Given the description of an element on the screen output the (x, y) to click on. 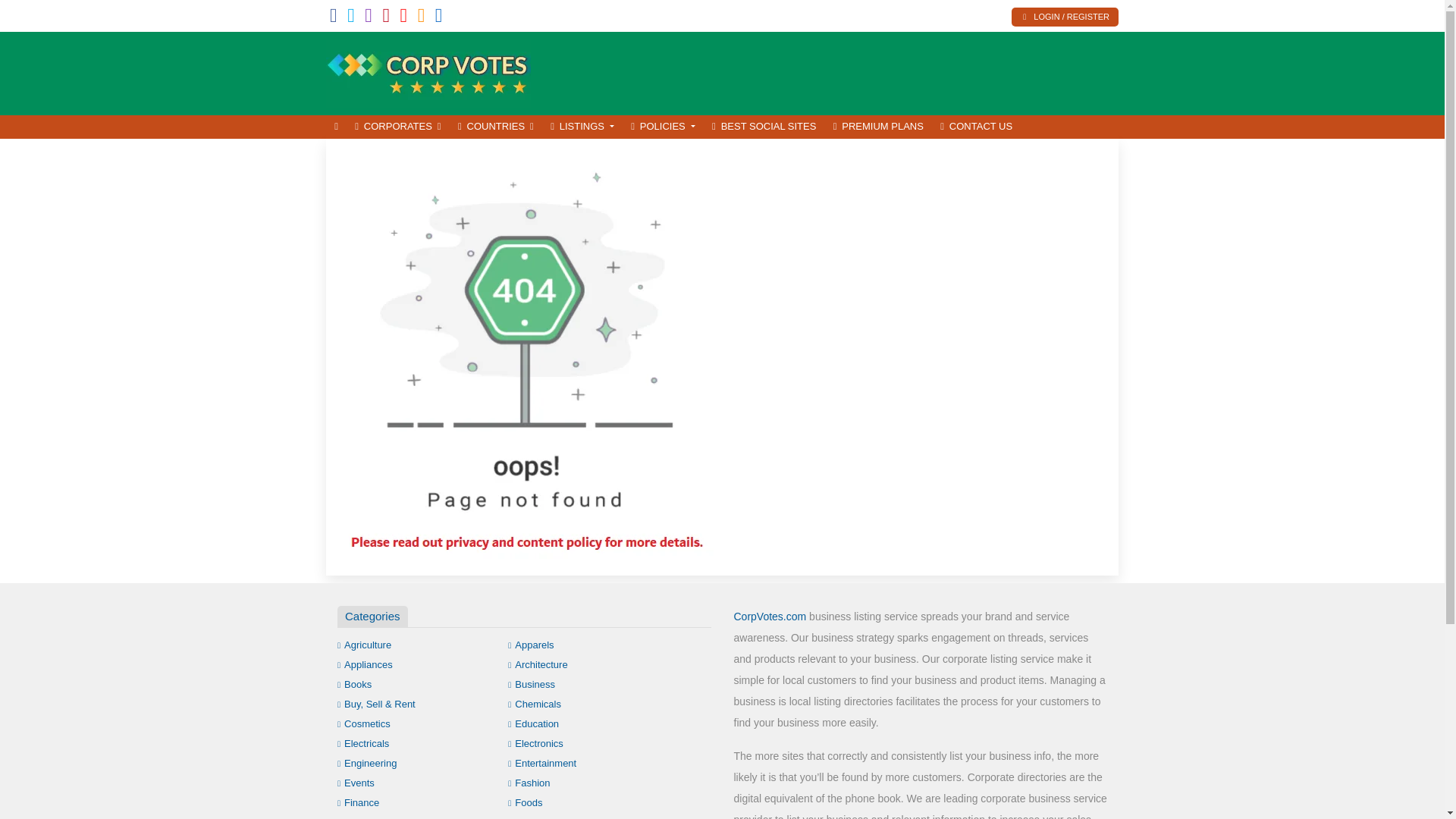
COUNTRIES (495, 126)
CORPORATES (397, 126)
Drive Traffic of Most Voted Corporate Bookmarks to Internet (428, 71)
